Given the description of an element on the screen output the (x, y) to click on. 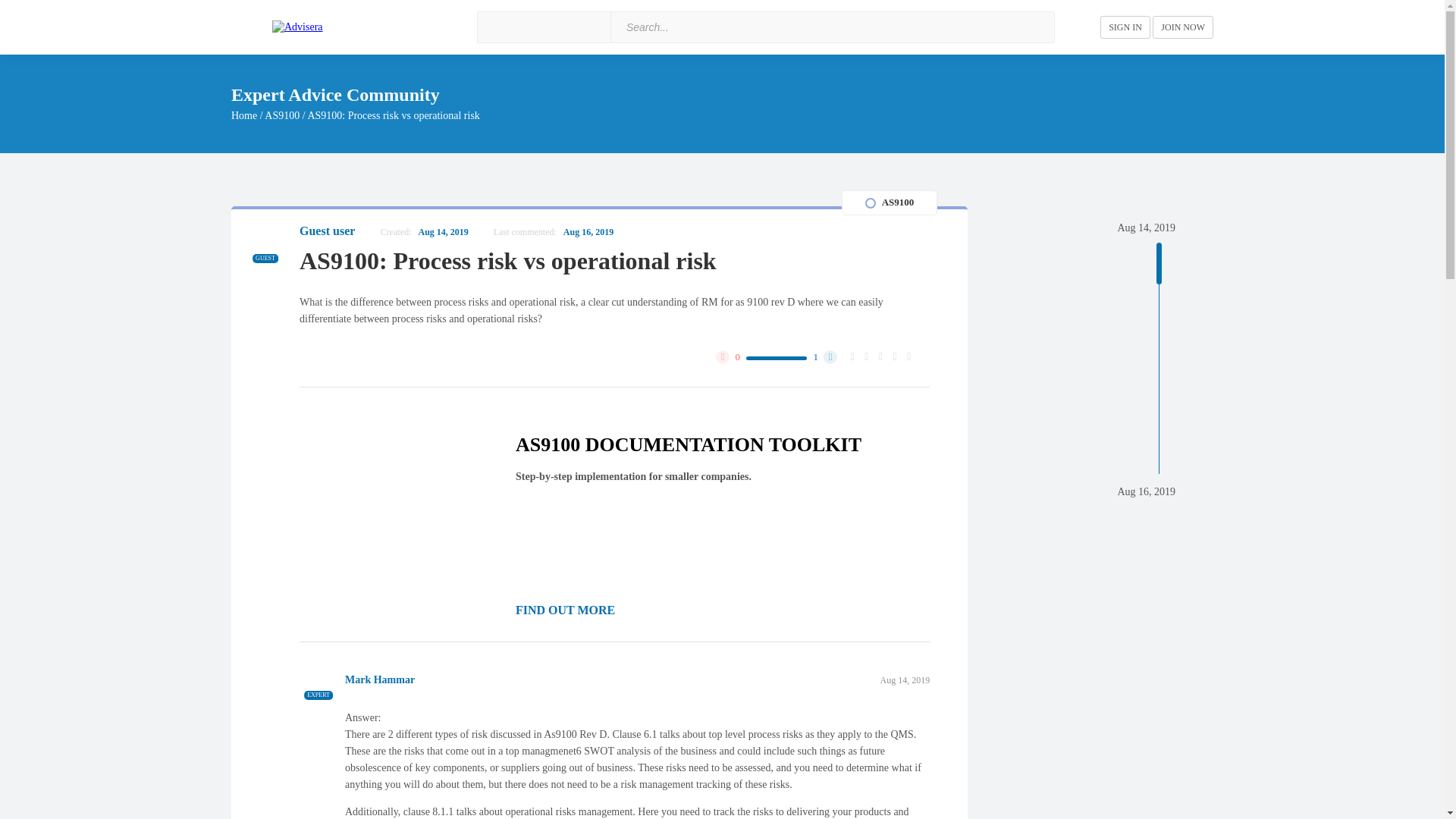
Home (244, 115)
JOIN NOW (1182, 26)
AS9100 (281, 115)
SIGN IN (1125, 26)
